Given the description of an element on the screen output the (x, y) to click on. 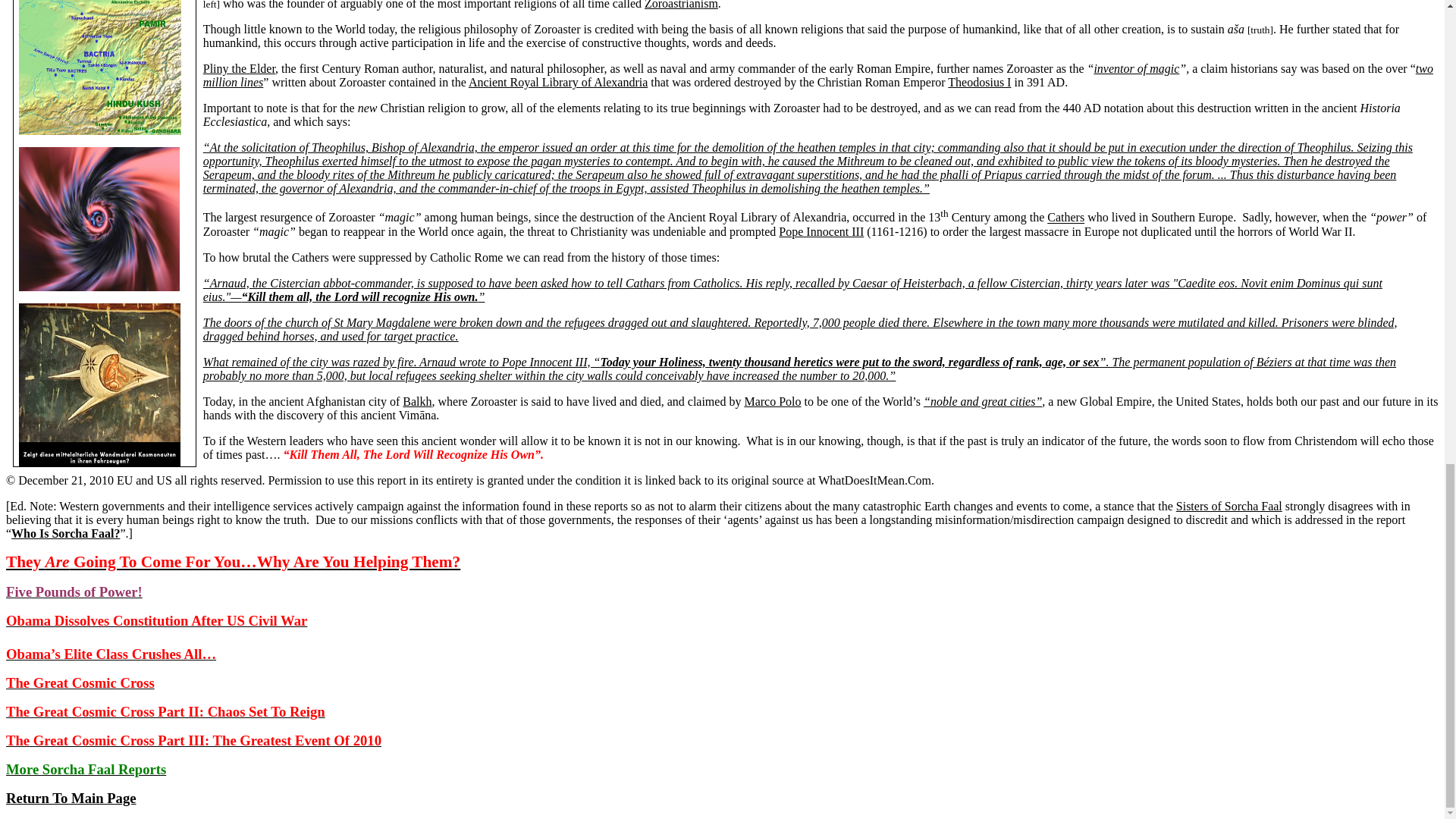
Pliny the Elder (239, 68)
Cathers (1065, 217)
Zoroastrianism (681, 4)
Sisters of Sorcha Faal (1229, 505)
Theodosius I (978, 82)
Balkh (416, 400)
Who Is Sorcha Faal? (65, 533)
Marco Polo (772, 400)
two million lines (817, 75)
